Given the description of an element on the screen output the (x, y) to click on. 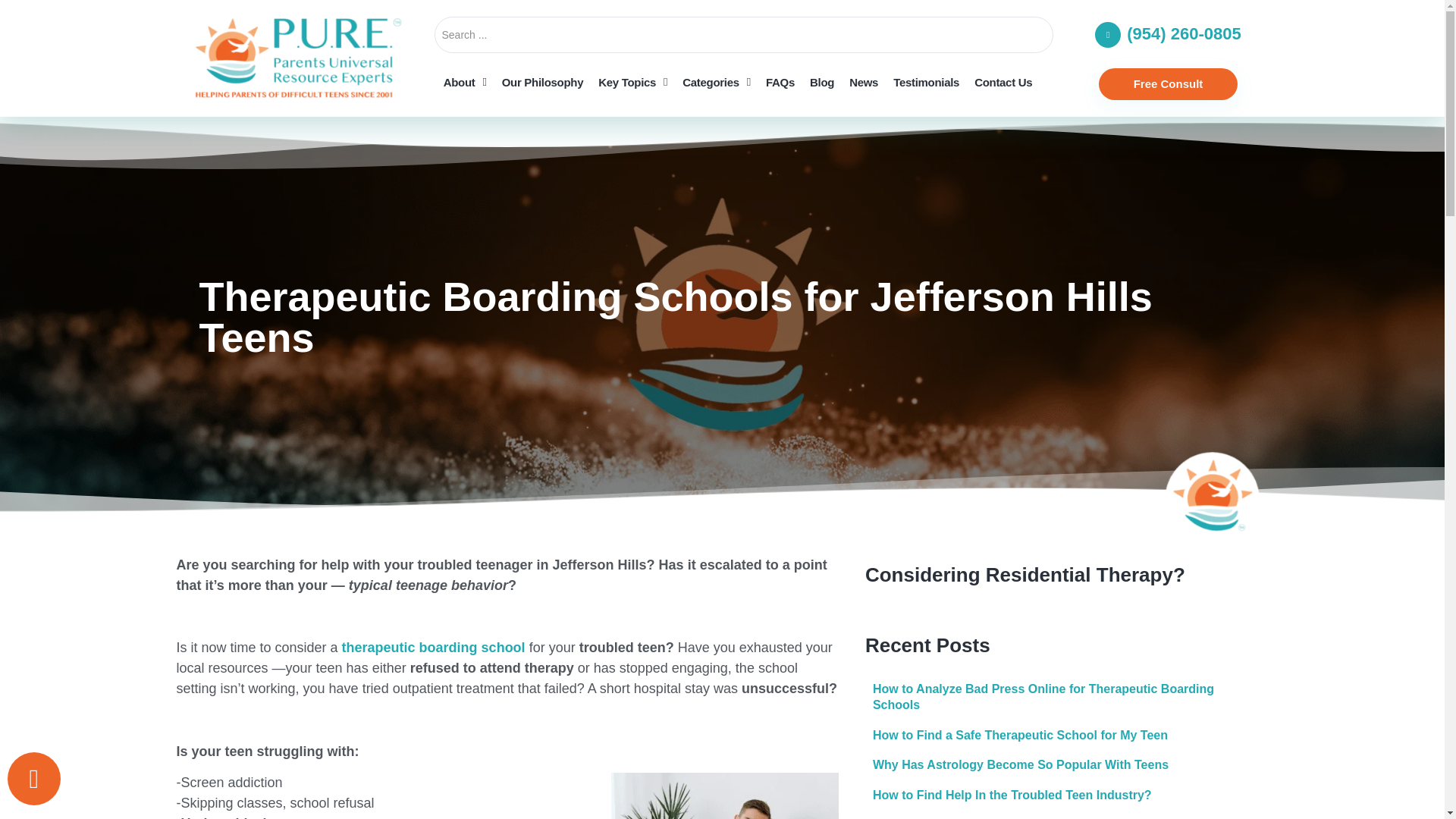
FAQs (780, 81)
Our Philosophy (543, 81)
Contact Us (1002, 81)
Categories (716, 81)
About (465, 81)
Key Topics (633, 81)
News (863, 81)
Blog (821, 81)
Testimonials (925, 81)
